Given the description of an element on the screen output the (x, y) to click on. 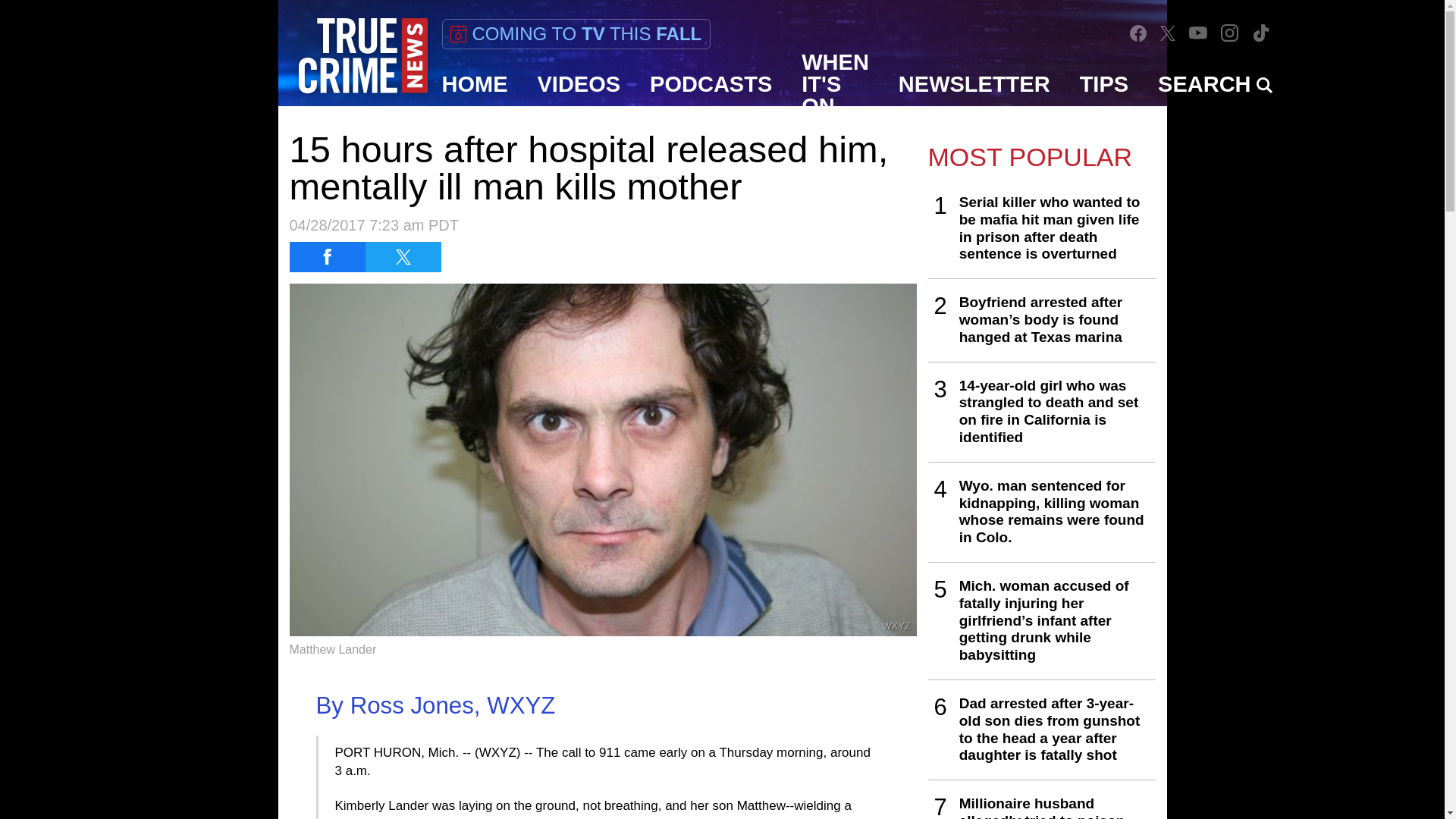
YouTube (1198, 32)
NEWSLETTER (974, 84)
TikTok (1260, 32)
TikTok (1260, 32)
True Crime News (363, 56)
Instagram (1230, 32)
Twitter (1167, 32)
Twitter (1167, 32)
YouTube (1198, 32)
Facebook (1137, 33)
WHEN IT'S ON (835, 84)
HOME (475, 84)
VIDEOS (579, 84)
True Crime News (363, 56)
TIPS (1103, 84)
